Given the description of an element on the screen output the (x, y) to click on. 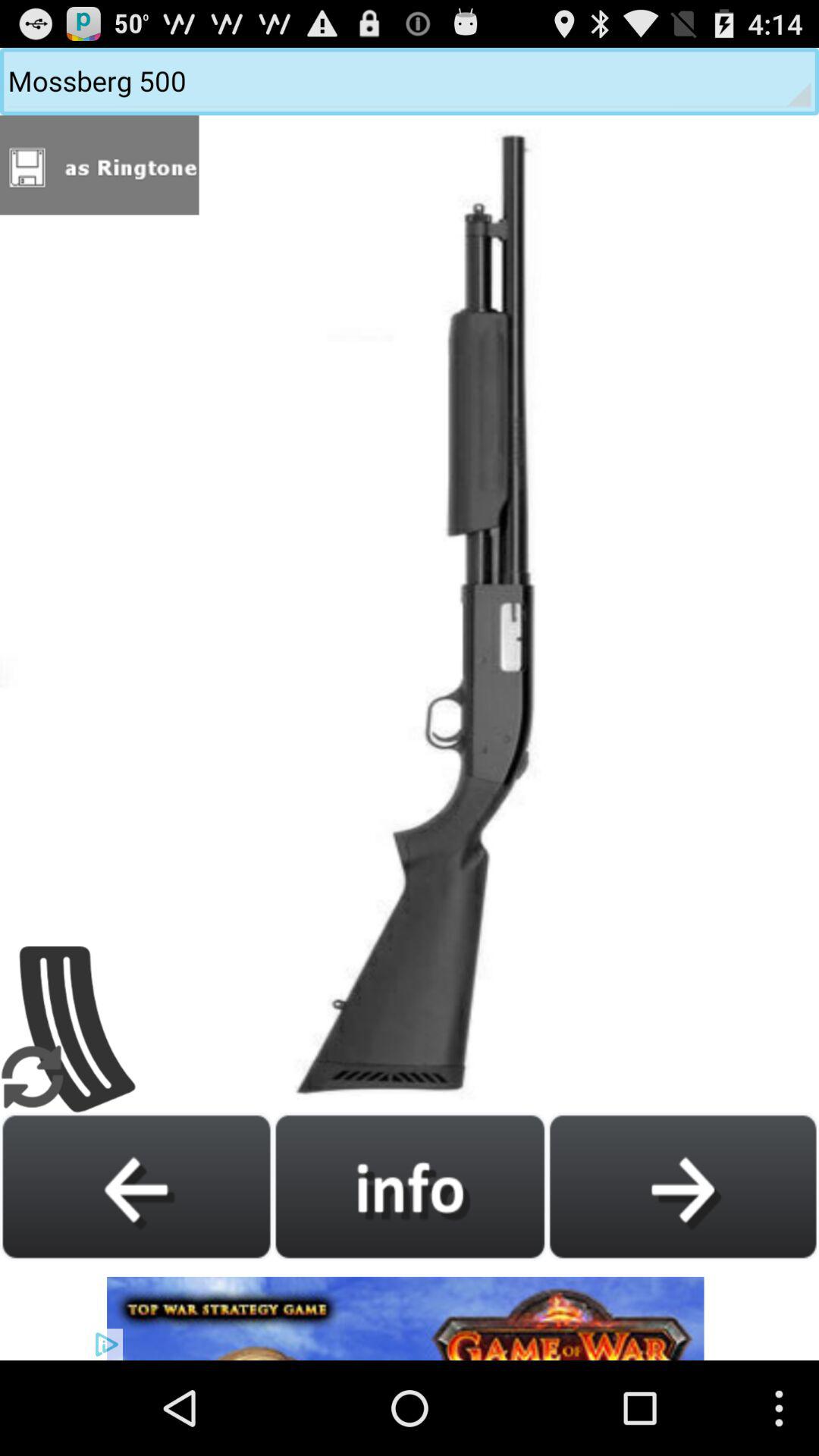
next (683, 1186)
